Given the description of an element on the screen output the (x, y) to click on. 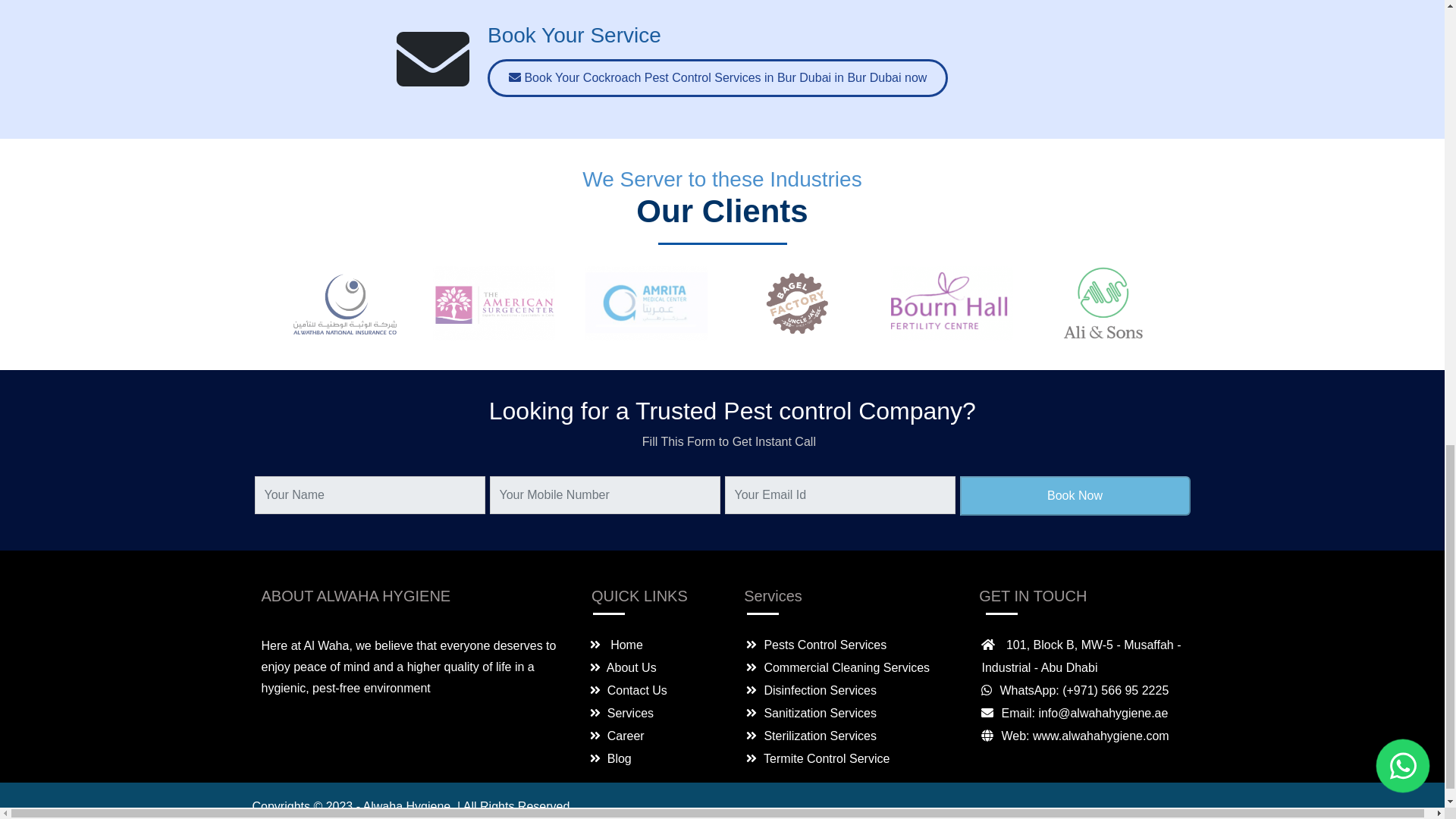
 About Us (622, 667)
 Services (621, 712)
  Home (616, 644)
Book Now (1075, 495)
Book Now (1075, 495)
 Contact Us (627, 689)
